Given the description of an element on the screen output the (x, y) to click on. 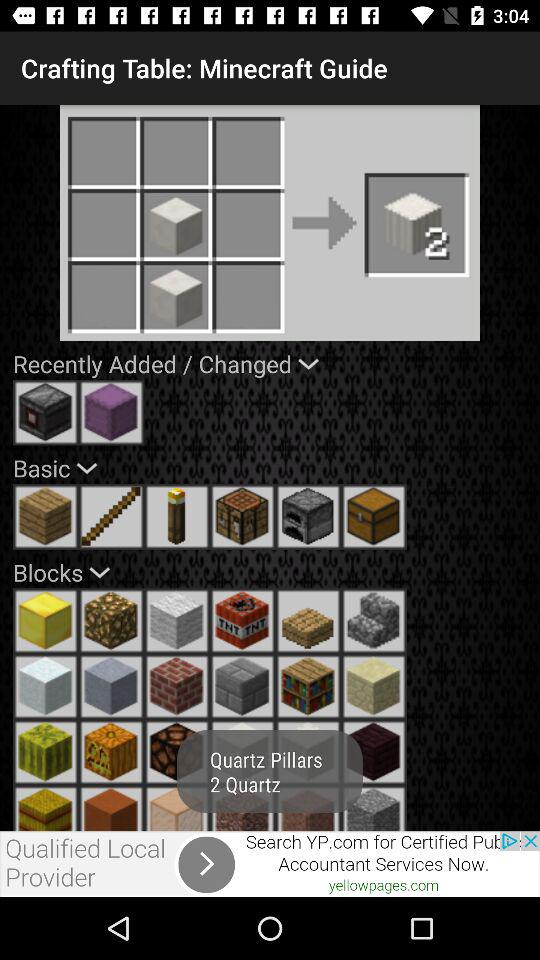
go to image (177, 621)
